Given the description of an element on the screen output the (x, y) to click on. 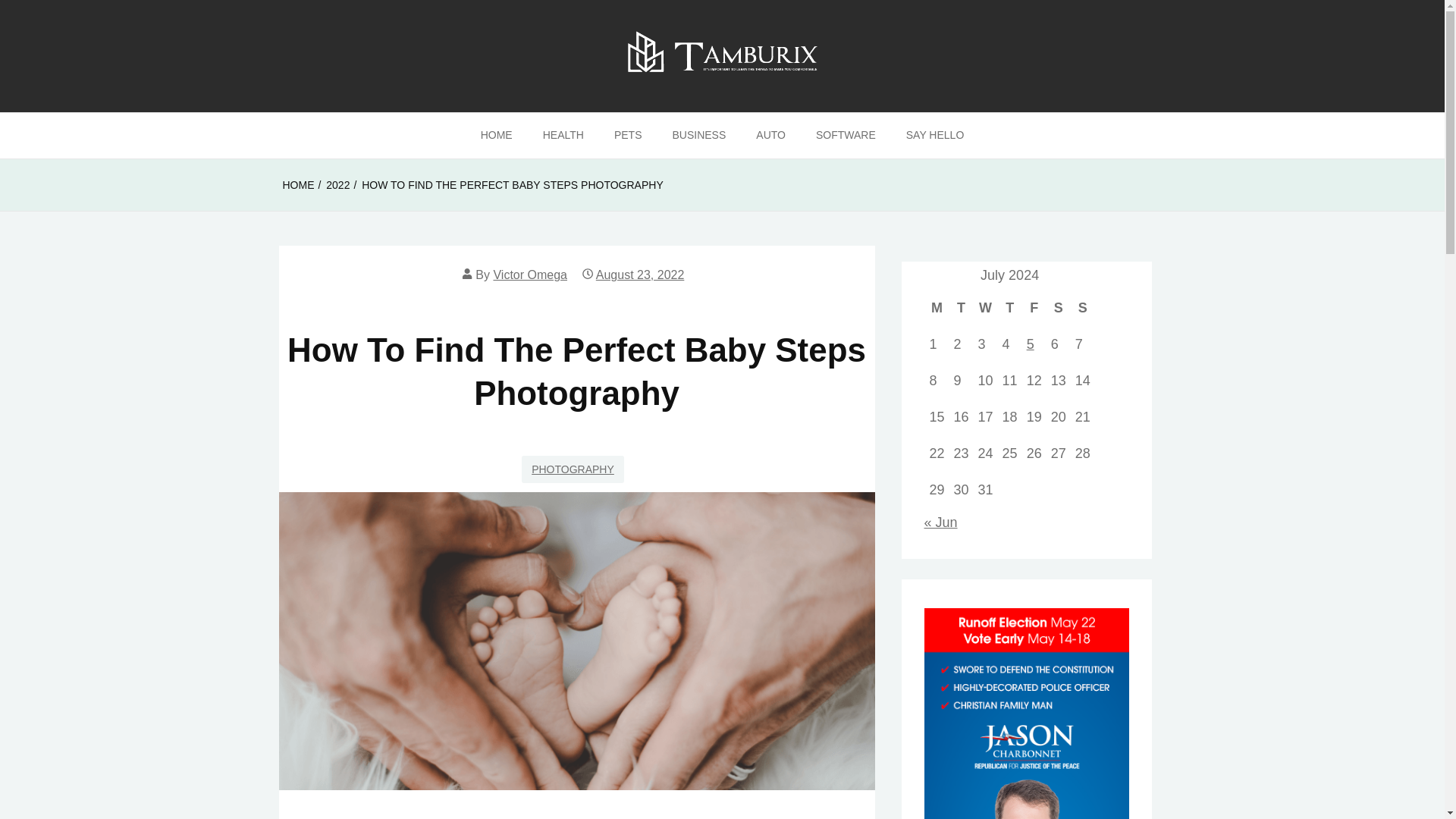
Tamburix (73, 137)
PETS (628, 135)
SOFTWARE (845, 135)
HOME (298, 185)
HEALTH (562, 135)
HOW TO FIND THE PERFECT BABY STEPS PHOTOGRAPHY (512, 185)
2022 (337, 185)
BUSINESS (698, 135)
HOME (496, 135)
AUTO (770, 135)
SAY HELLO (935, 135)
